Given the description of an element on the screen output the (x, y) to click on. 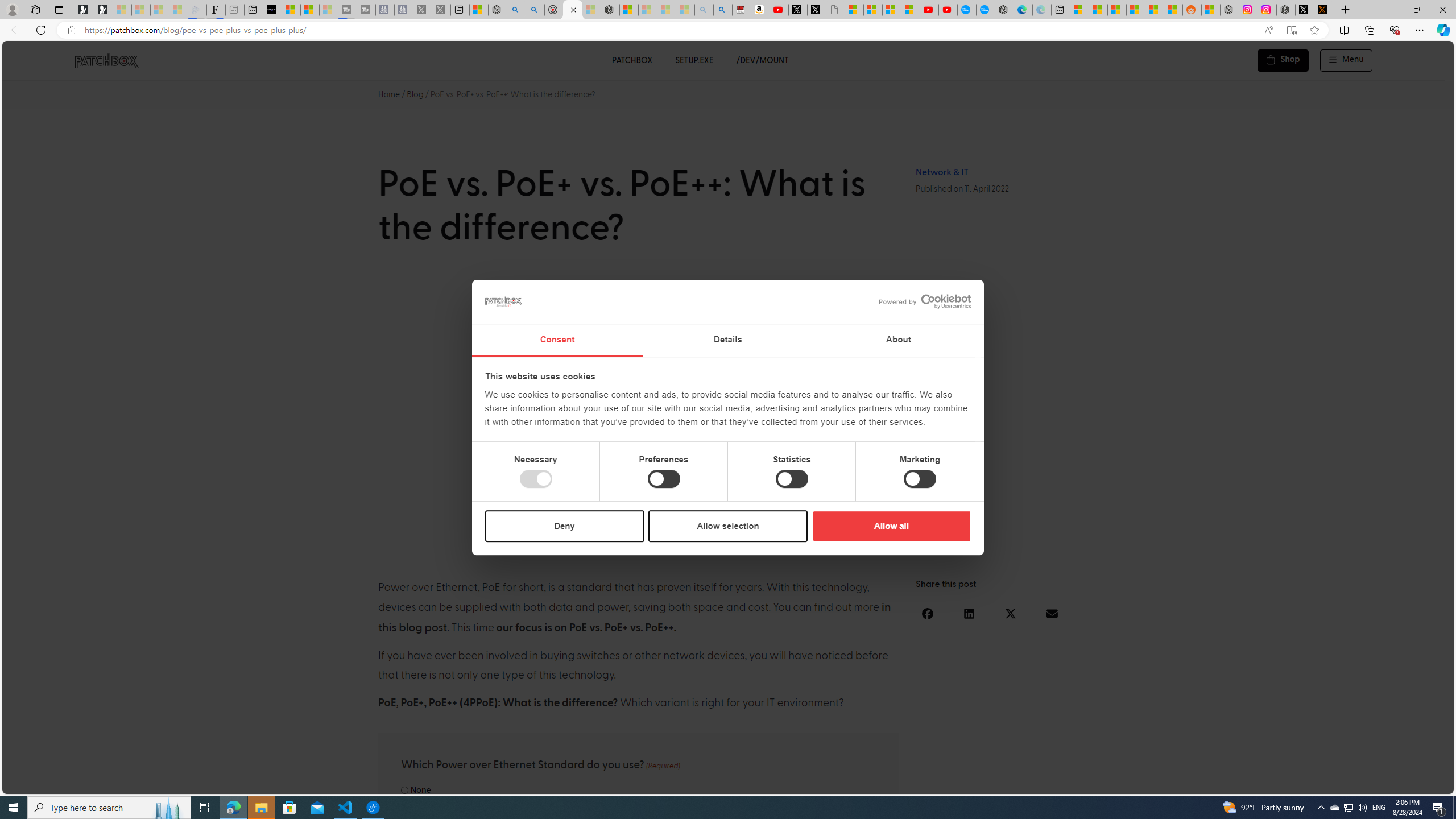
amazon - Search - Sleeping (703, 9)
Network & IT (941, 171)
Consent (556, 340)
Language switcher : Italian (1265, 782)
Language switcher : Greek (1380, 782)
Shanghai, China Weather trends | Microsoft Weather (1173, 9)
Language switcher : Polish (1300, 782)
